Given the description of an element on the screen output the (x, y) to click on. 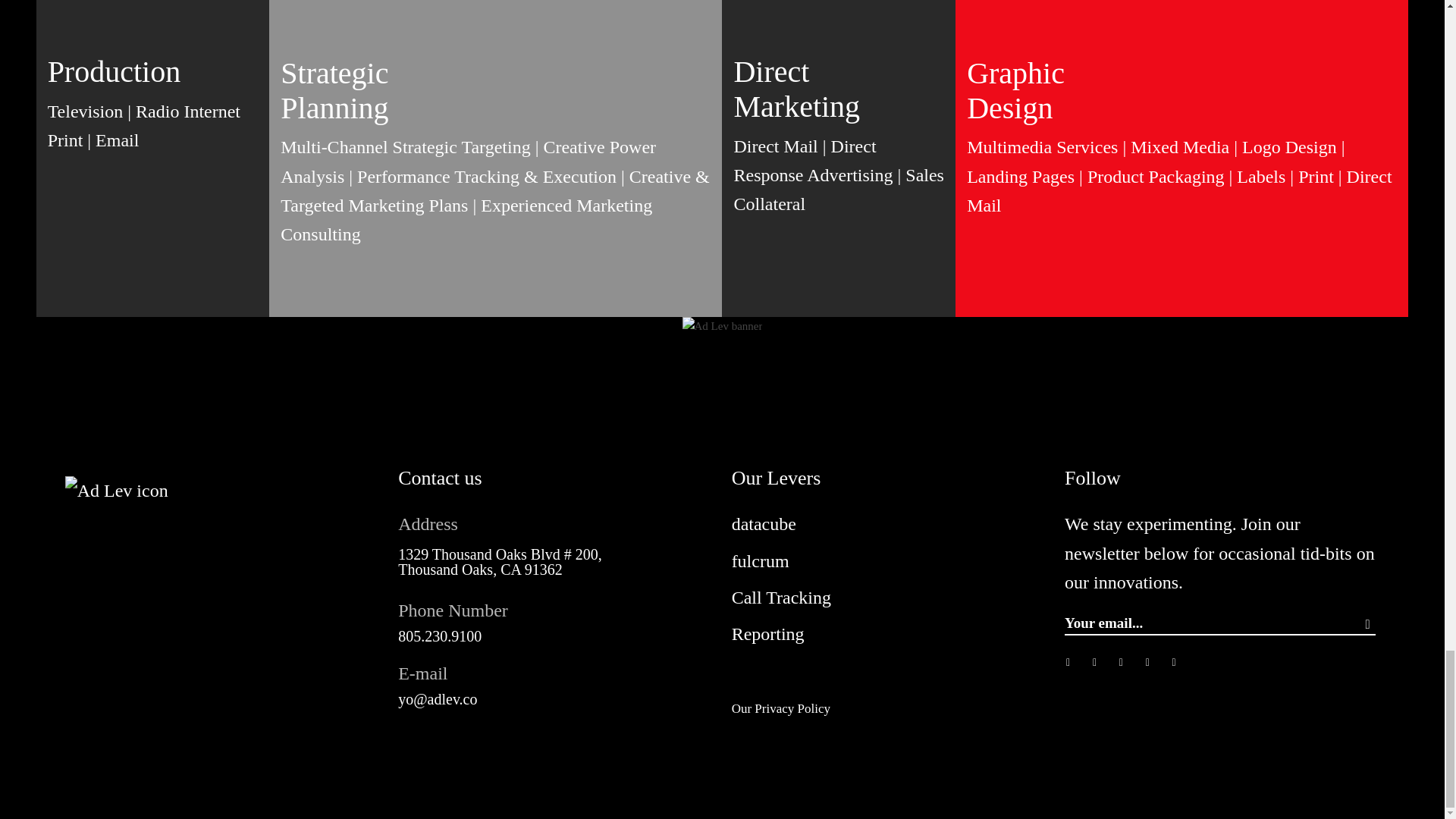
Our Privacy Policy (780, 708)
Send (1367, 624)
805.230.9100 (439, 636)
datacube (764, 523)
fulcrum (760, 560)
Reporting (768, 633)
Call Tracking (781, 597)
